Given the description of an element on the screen output the (x, y) to click on. 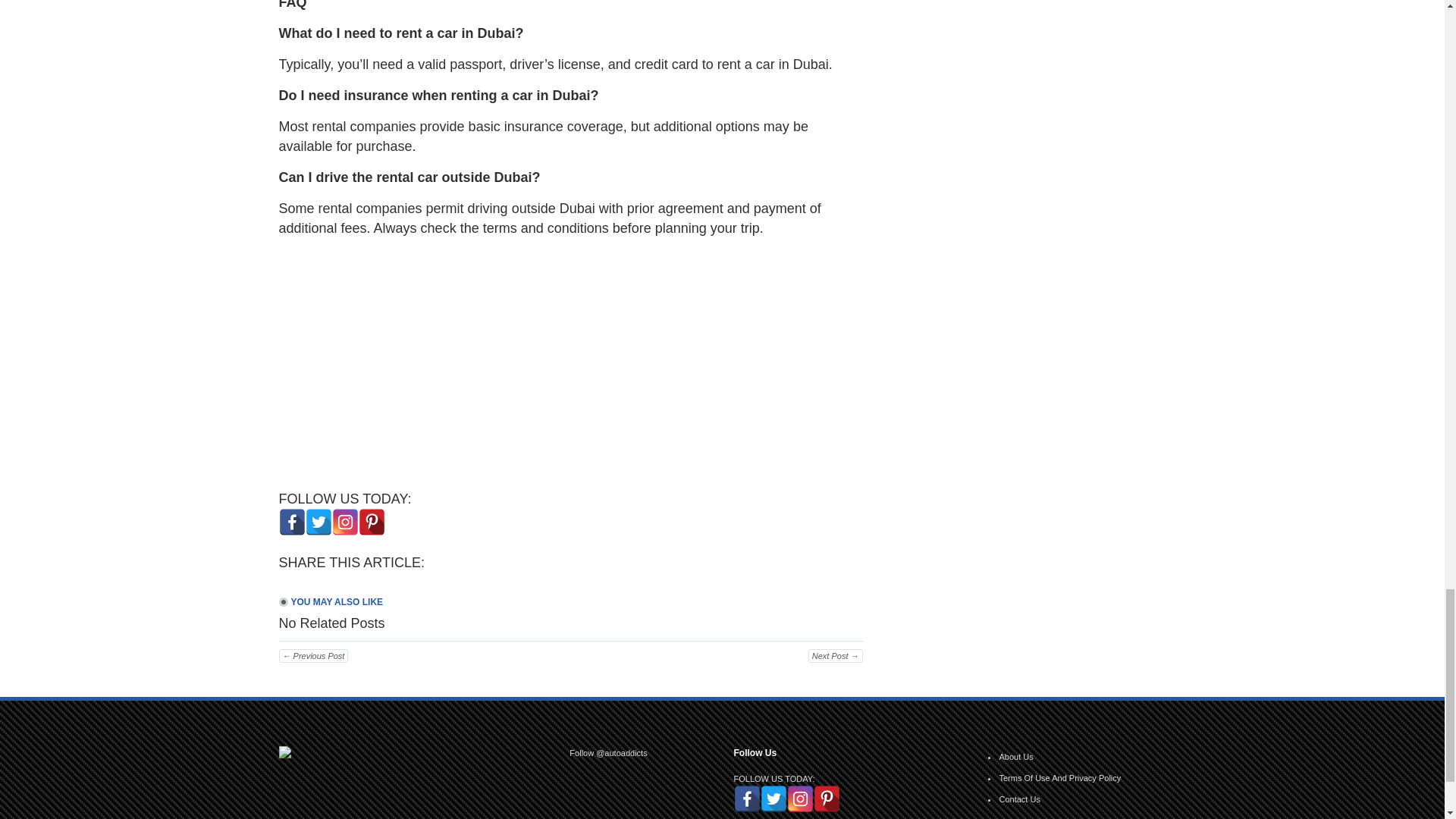
Facebook (292, 521)
Pinterest (371, 521)
Twitter (317, 521)
Instagram (344, 521)
